Given the description of an element on the screen output the (x, y) to click on. 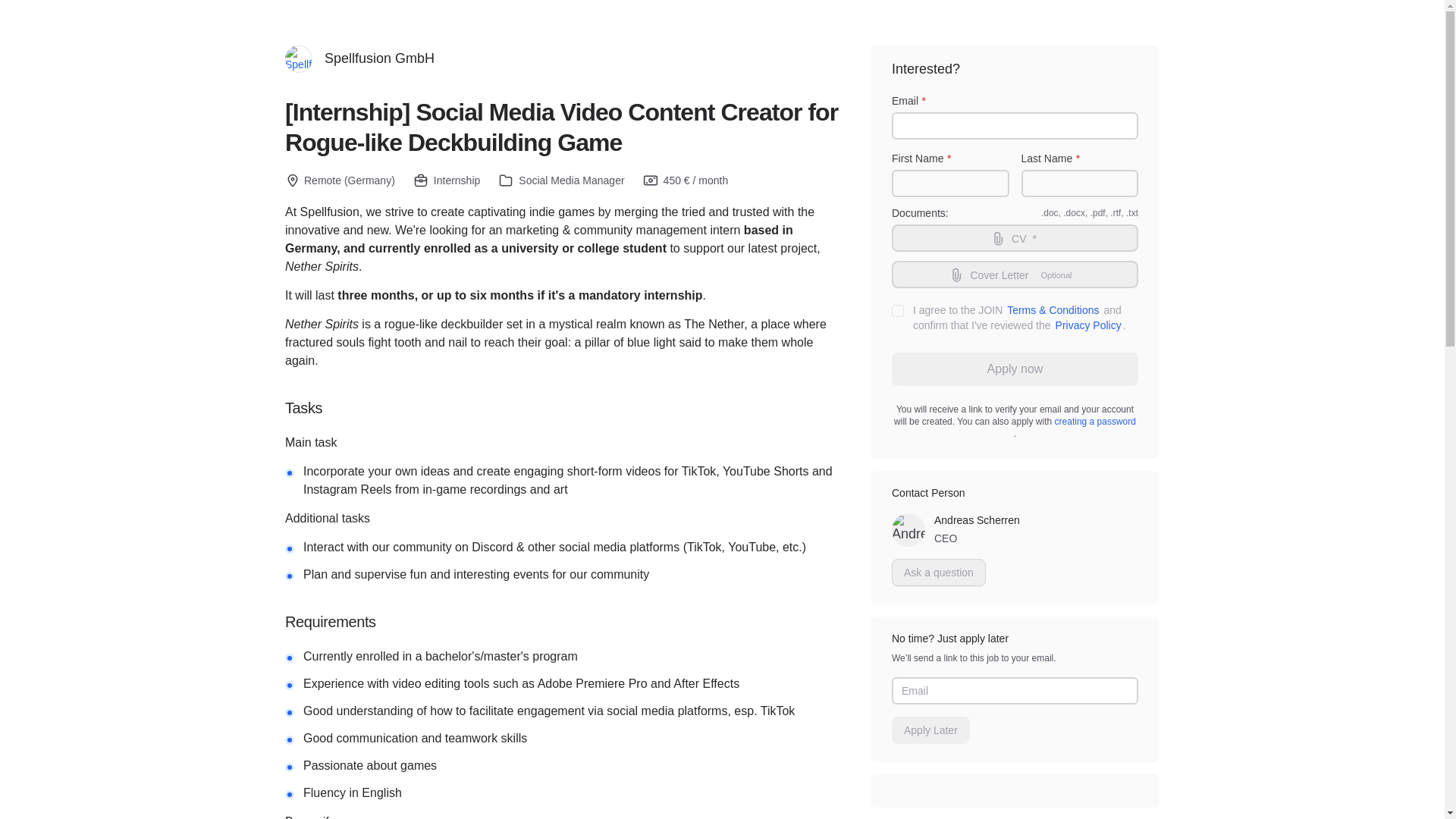
Apply now (1014, 368)
Privacy Policy (1088, 325)
Ask a question (938, 572)
Apply Later (930, 729)
Spellfusion GmbH (1014, 274)
